Given the description of an element on the screen output the (x, y) to click on. 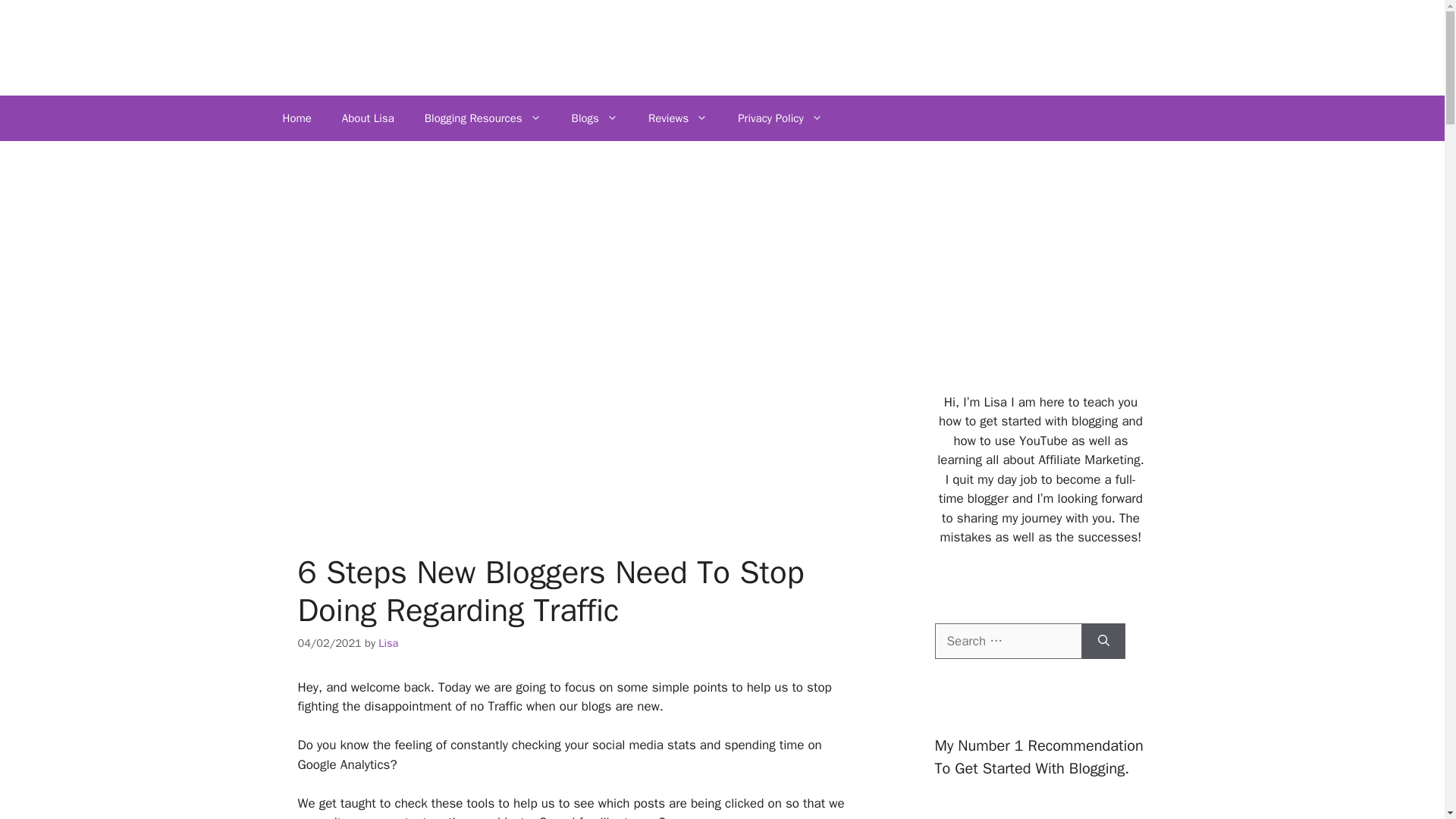
Blogging Resources (482, 117)
Reviews (677, 117)
About Lisa (367, 117)
View all posts by Lisa (387, 643)
Search for: (1007, 641)
Lisa (387, 643)
Privacy Policy (780, 117)
Home (296, 117)
Blogs (594, 117)
